Given the description of an element on the screen output the (x, y) to click on. 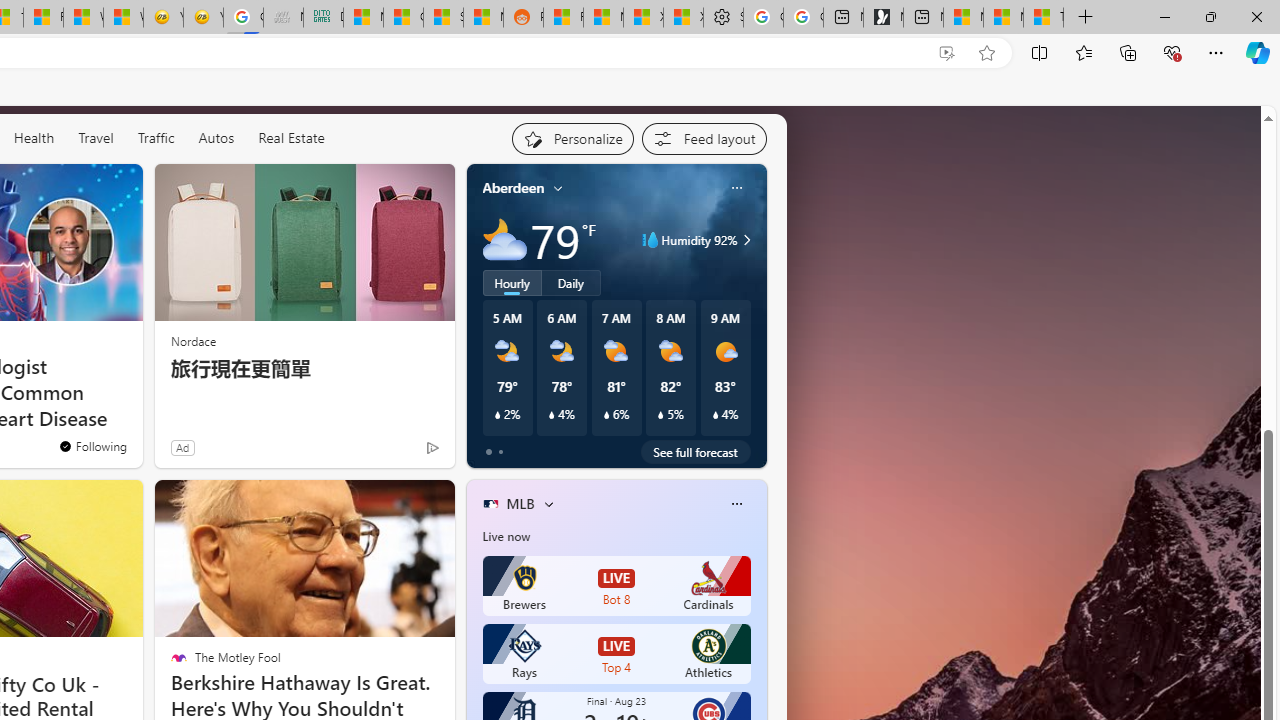
Fitness - MSN (43, 17)
Class: weather-current-precipitation-glyph (715, 415)
Feed settings (703, 138)
Traffic (155, 137)
Mostly cloudy (504, 240)
Health (33, 138)
tab-1 (500, 451)
Class: weather-arrow-glyph (746, 240)
